Given the description of an element on the screen output the (x, y) to click on. 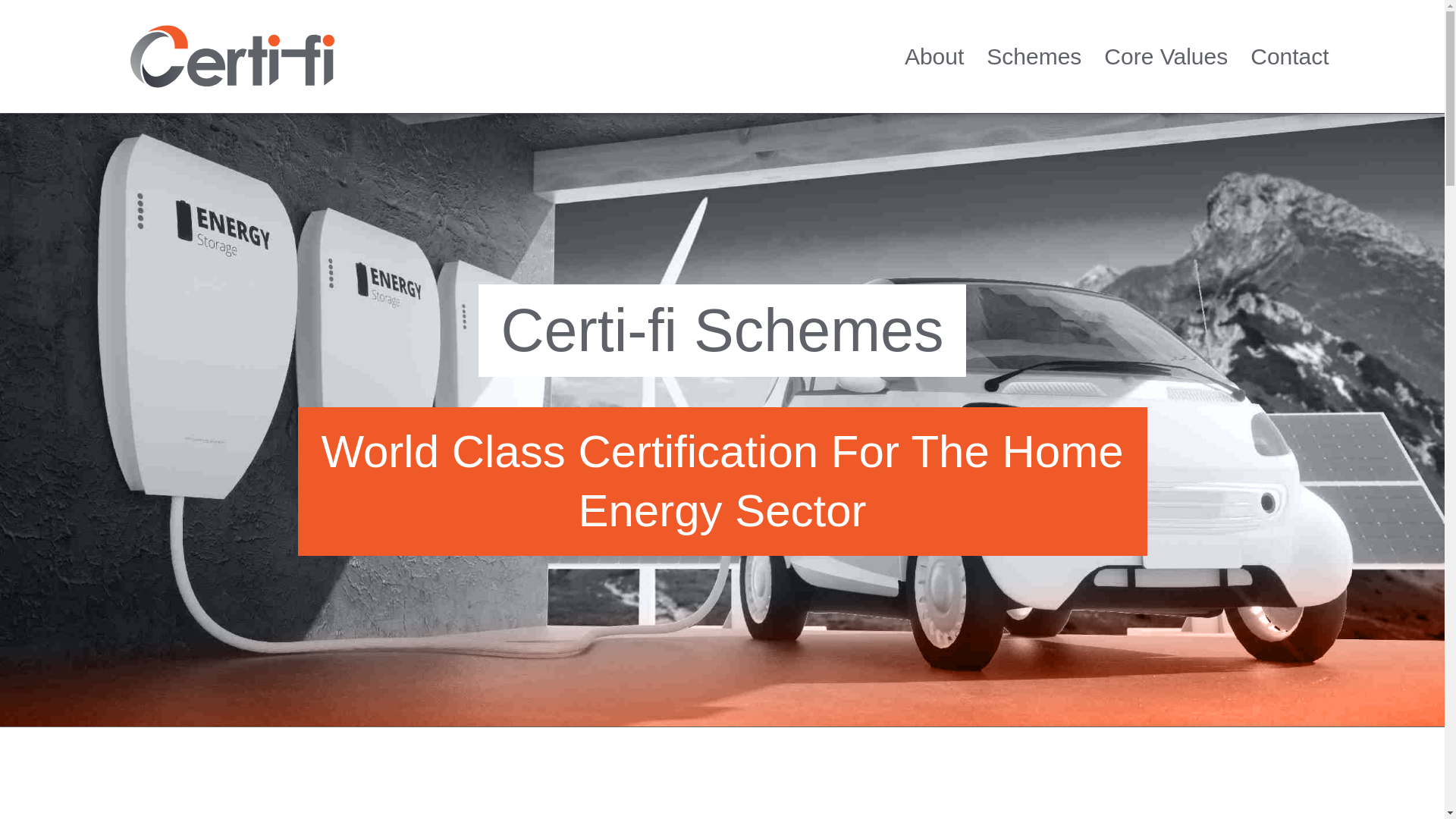
Contact (1288, 55)
About (933, 55)
Core Values (1165, 55)
Schemes (1034, 55)
